Given the description of an element on the screen output the (x, y) to click on. 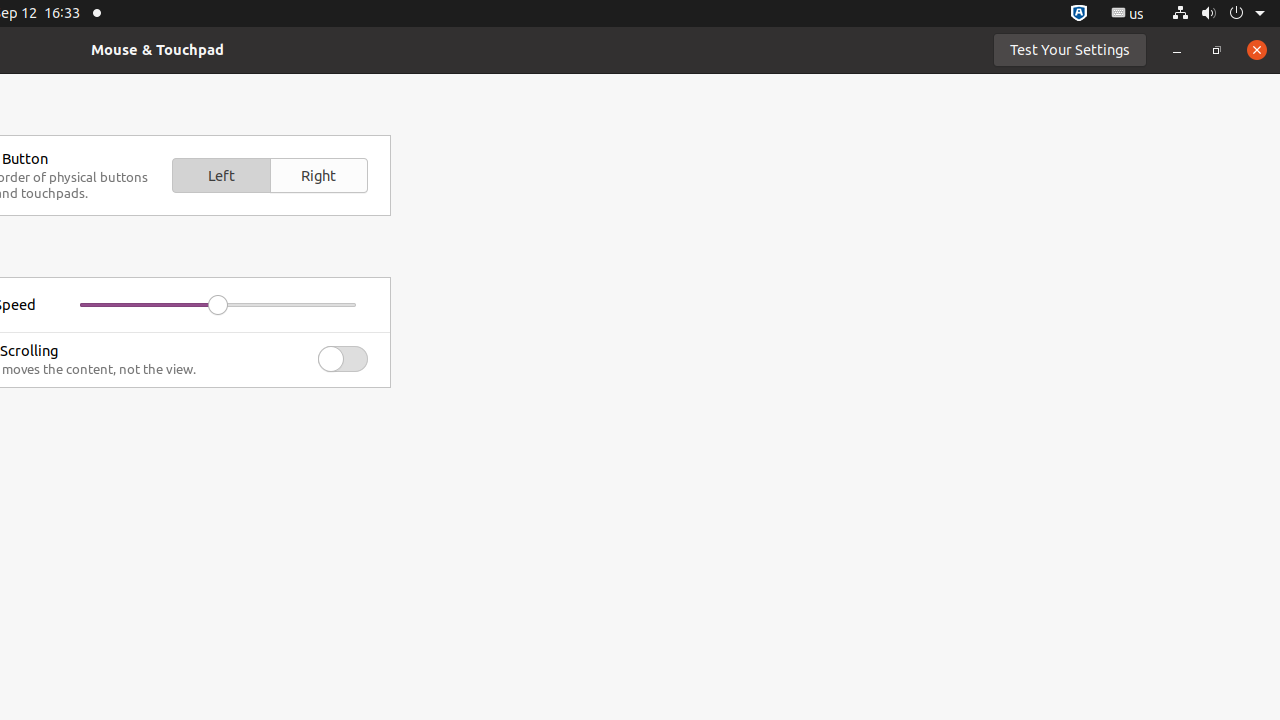
Left Element type: radio-button (221, 175)
Mouse & Touchpad Element type: label (157, 49)
